Given the description of an element on the screen output the (x, y) to click on. 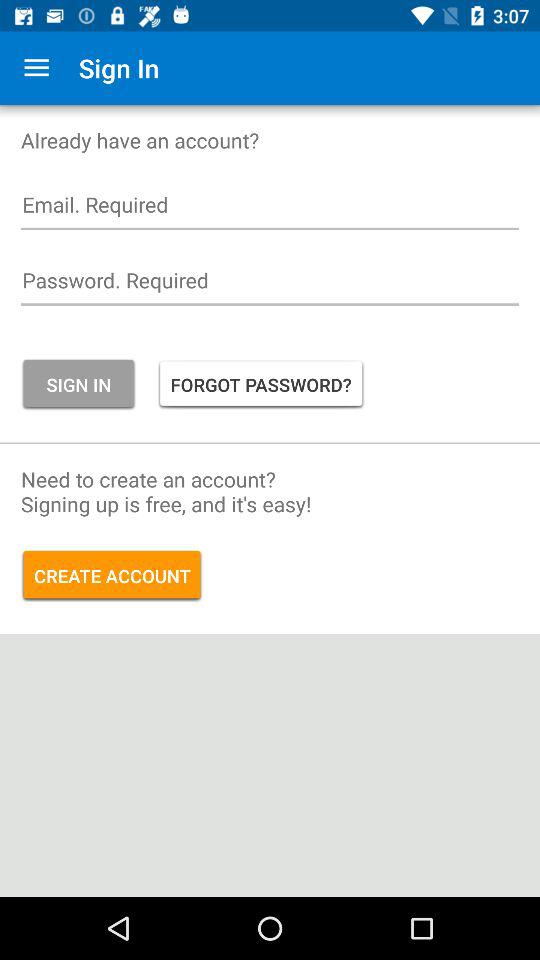
input email address (270, 209)
